Given the description of an element on the screen output the (x, y) to click on. 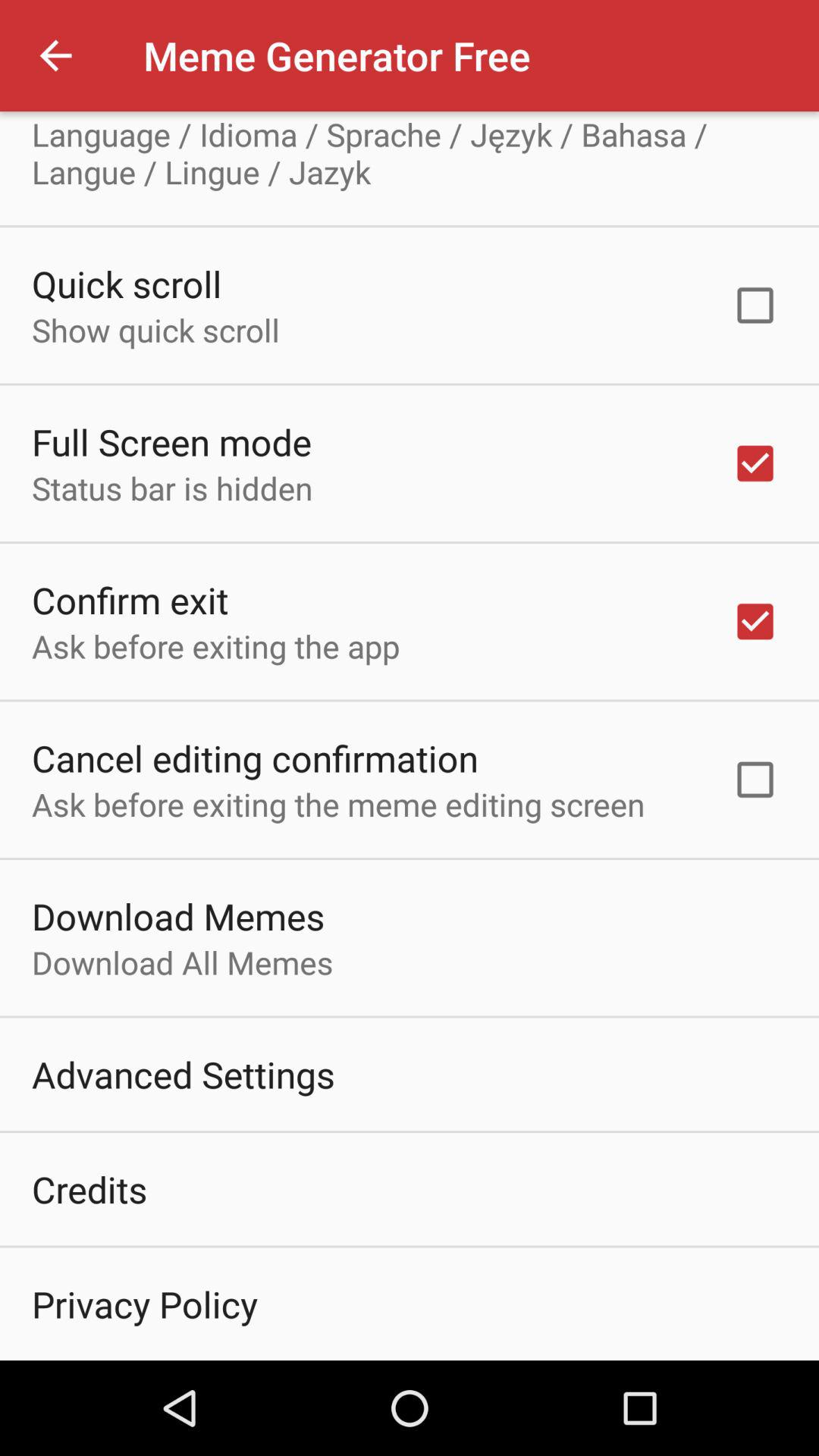
tap the item to the left of meme generator free icon (55, 55)
